Given the description of an element on the screen output the (x, y) to click on. 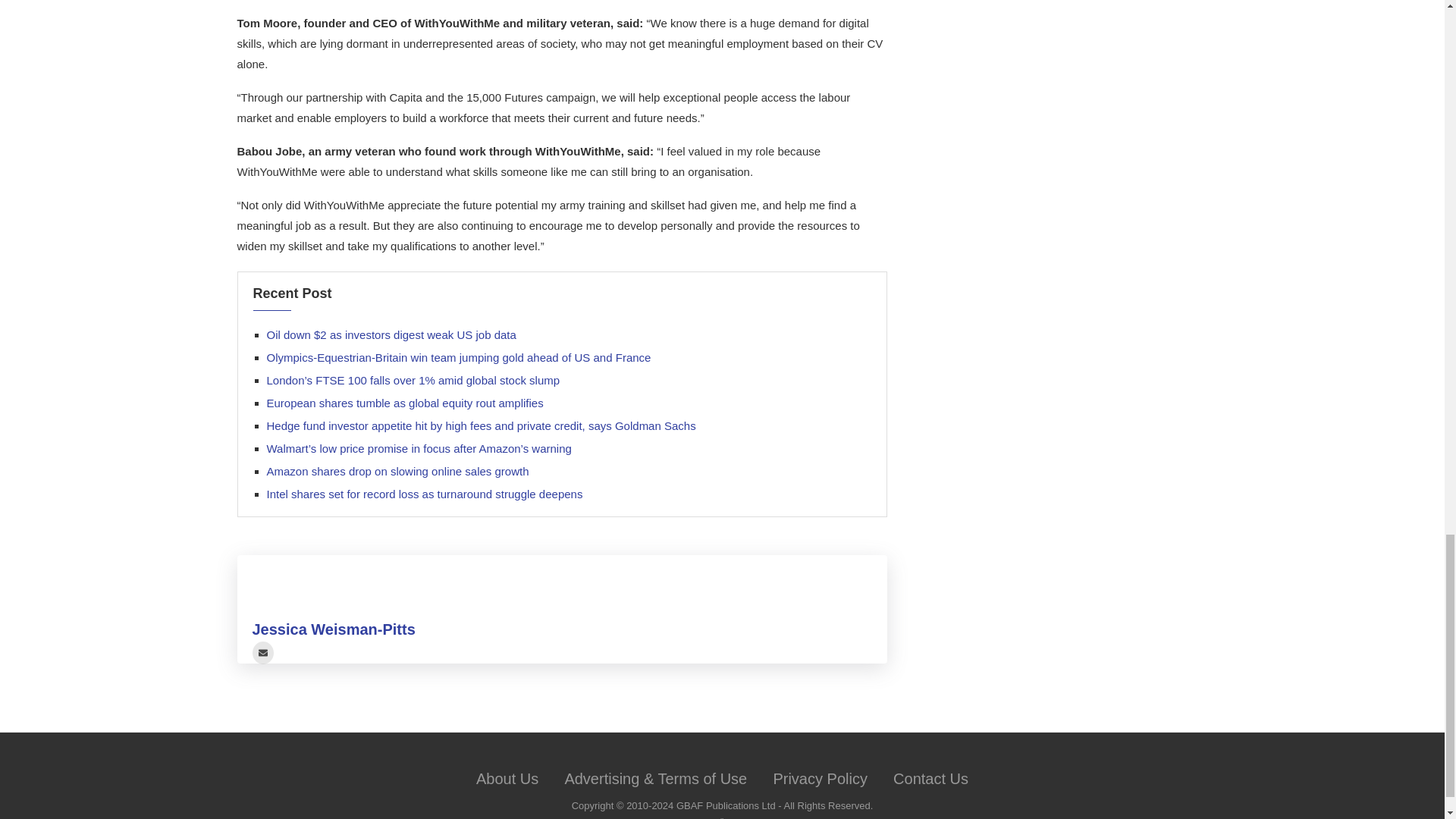
Privacy Policy (819, 778)
Jessica Weisman-Pitts (332, 629)
User email (262, 652)
About Us (507, 778)
European shares tumble as global equity rout amplifies (404, 402)
Amazon shares drop on slowing online sales growth (397, 471)
Contact Us (930, 778)
